Given the description of an element on the screen output the (x, y) to click on. 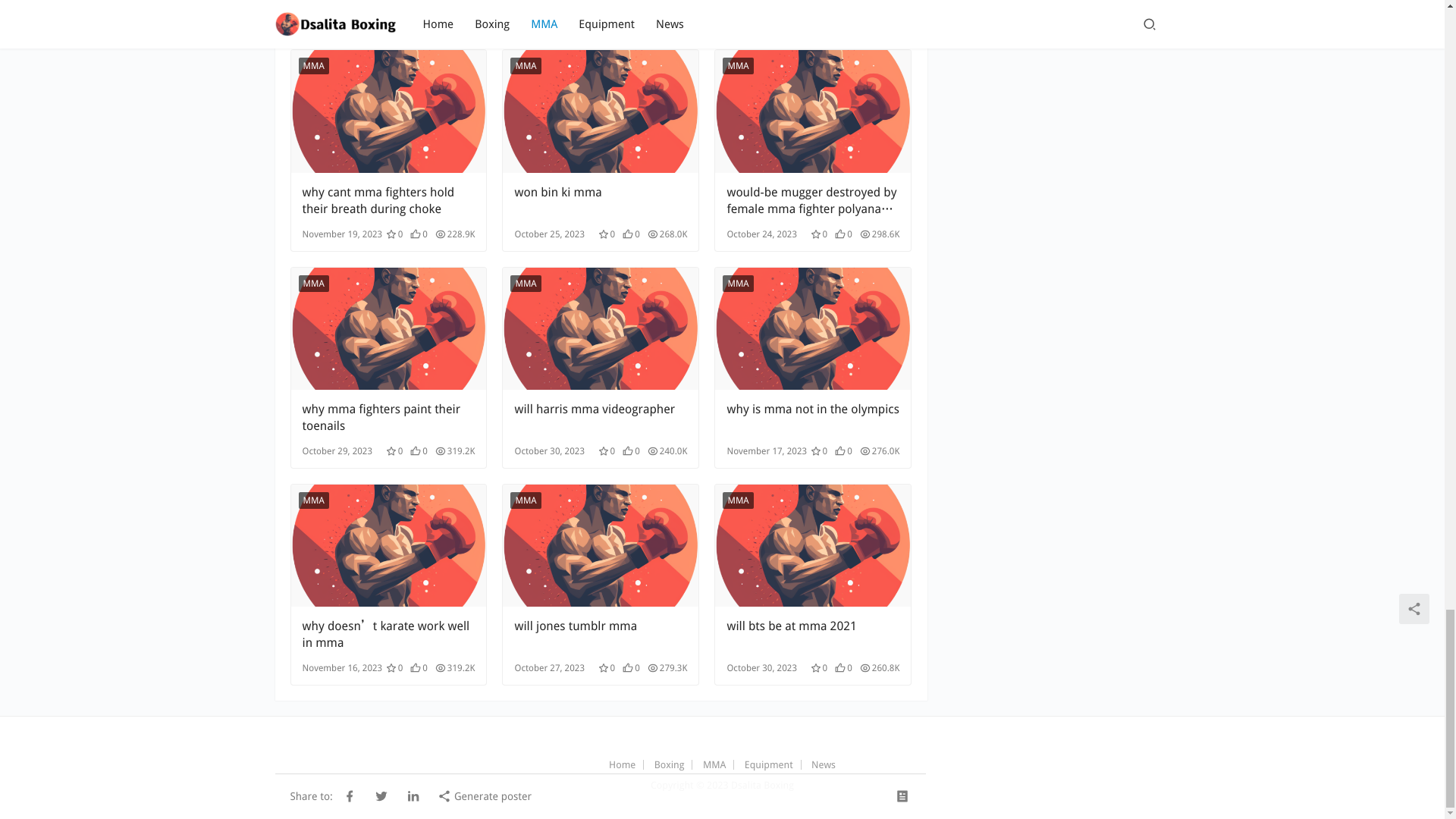
won bin ki mma (600, 200)
why mma fighters paint their toenails (387, 417)
MMA (525, 65)
won bin ki mma (600, 110)
why mma fighters paint their toenails (388, 328)
MMA (737, 65)
MMA (313, 283)
why cant mma fighters hold their breath during choke (387, 200)
why cant mma fighters hold their breath during choke (387, 200)
won bin ki mma (600, 200)
why cant mma fighters hold their breath during choke (388, 110)
will harris mma videographer (600, 328)
